Given the description of an element on the screen output the (x, y) to click on. 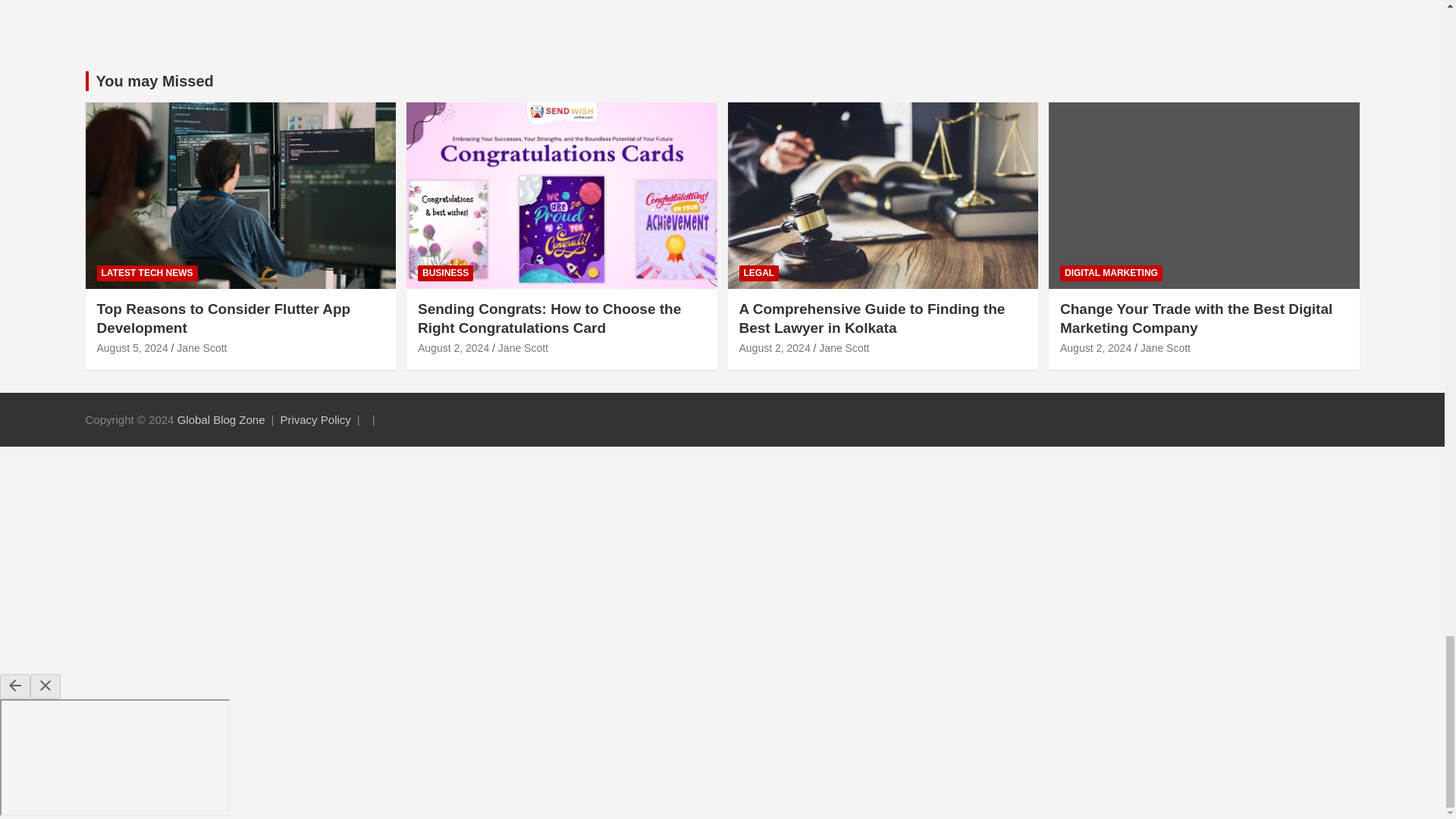
Advertisement (721, 31)
Change Your Trade with the Best Digital Marketing Company (1095, 347)
Global Blog Zone (220, 419)
Top Reasons to Consider Flutter App Development (132, 347)
A Comprehensive Guide to Finding the Best Lawyer in Kolkata (773, 347)
